Given the description of an element on the screen output the (x, y) to click on. 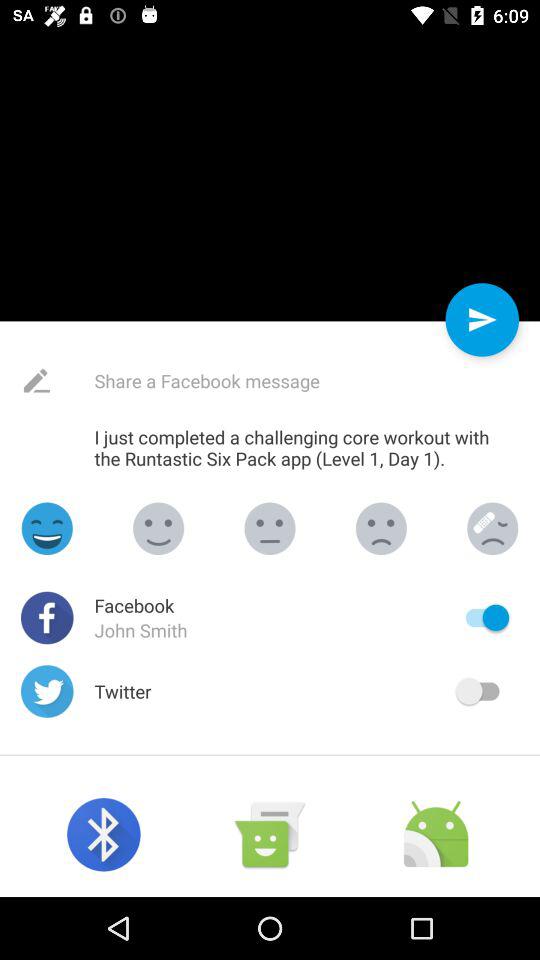
share facebook message facebook on/off slider (482, 617)
